Given the description of an element on the screen output the (x, y) to click on. 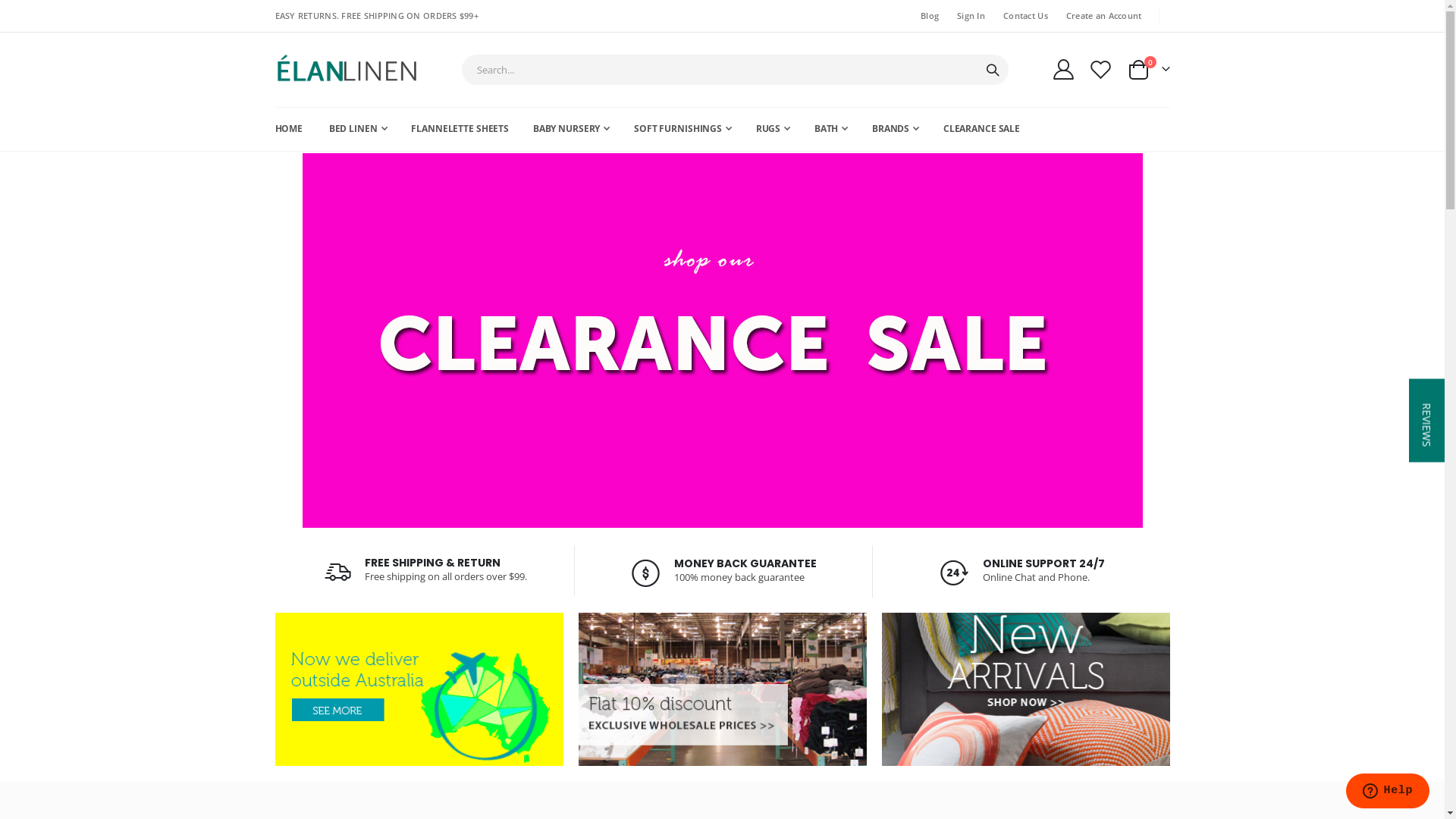
BATH Element type: text (830, 128)
My Account Element type: hover (1063, 69)
HOME Element type: text (288, 128)
Cart
0 Element type: text (1148, 69)
BRANDS Element type: text (895, 128)
BED LINEN Element type: text (358, 128)
CLEARANCE SALE Element type: text (981, 128)
FLANNELETTE SHEETS Element type: text (459, 128)
Sign In Element type: text (967, 15)
BABY NURSERY Element type: text (571, 128)
Create an Account Element type: text (1101, 15)
Opens a widget where you can chat to one of our agents Element type: hover (1387, 792)
Contact Us Element type: text (1022, 15)
RUGS Element type: text (773, 128)
Search Element type: hover (992, 70)
Blog Element type: text (926, 15)
Wishlist Element type: hover (1100, 69)
SOFT FURNISHINGS Element type: text (682, 128)
